Given the description of an element on the screen output the (x, y) to click on. 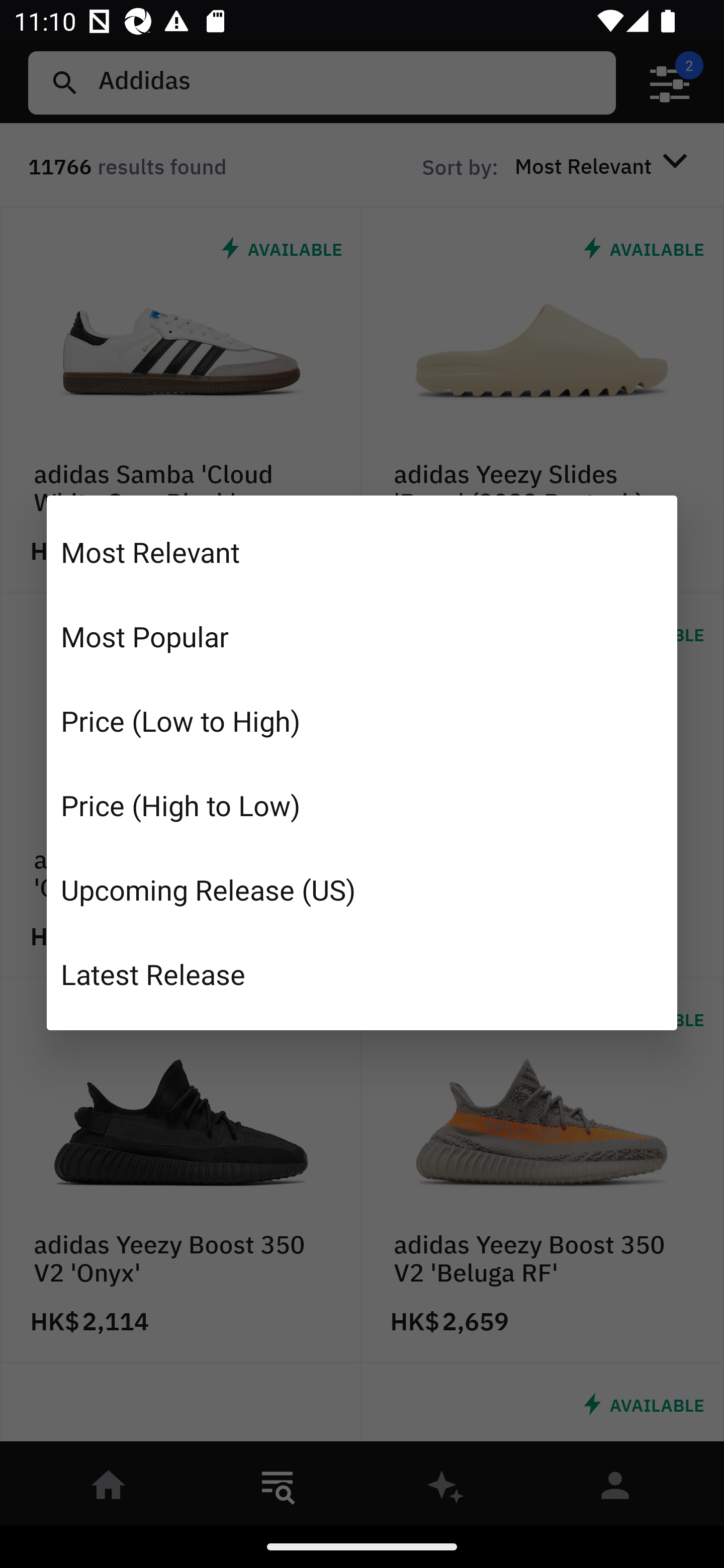
Most Relevant (361, 551)
Most Popular (361, 636)
Price (Low to High) (361, 720)
Price (High to Low) (361, 804)
Upcoming Release (US) (361, 888)
Latest Release (361, 973)
